Given the description of an element on the screen output the (x, y) to click on. 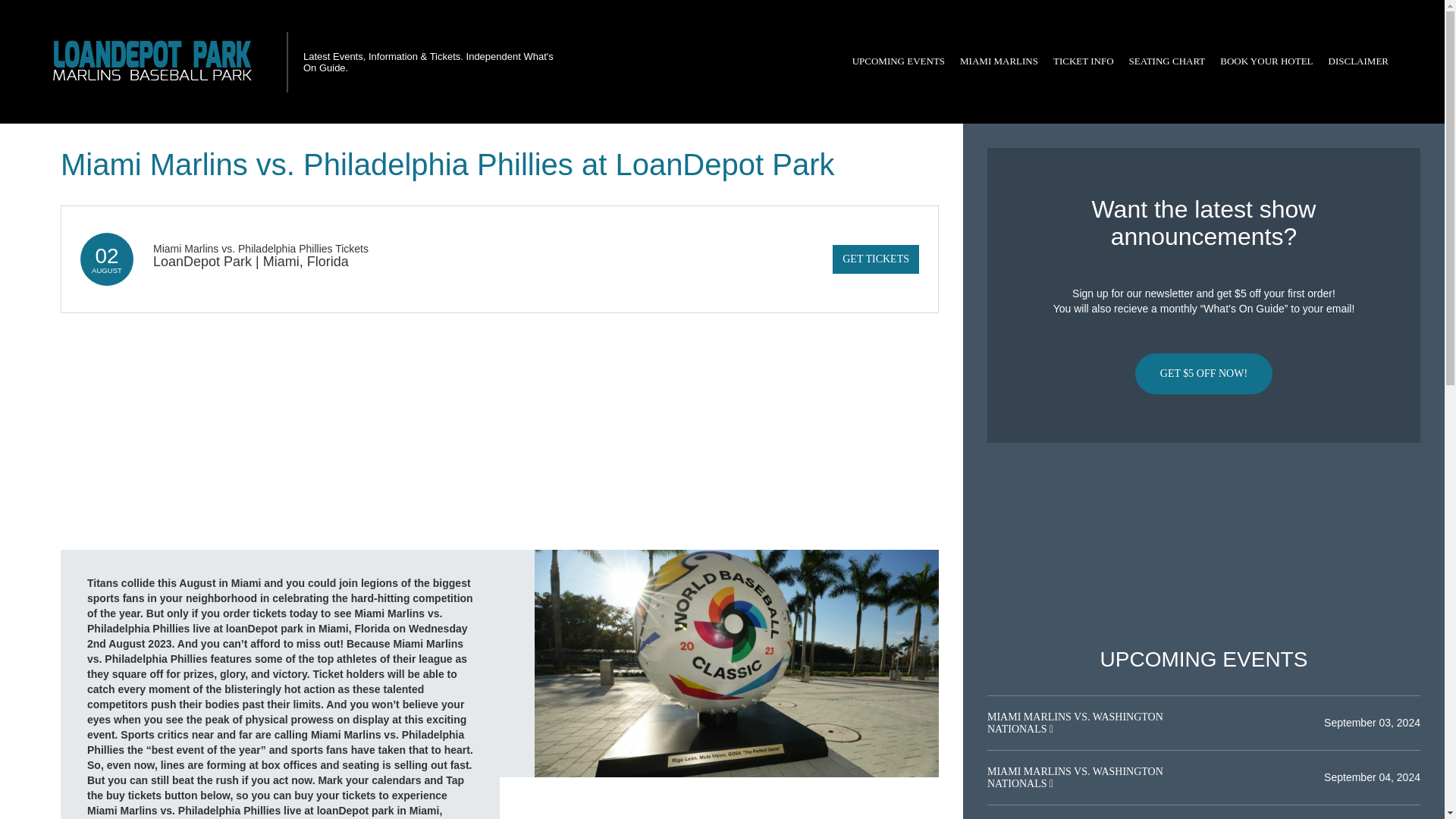
Miami Marlins vs. Philadelphia Phillies Tickets (260, 248)
TICKET INFO (1083, 61)
Miami Marlins vs. Philadelphia Phillies at LoanDepot Park (736, 663)
DISCLAIMER (1358, 61)
GET TICKETS (875, 258)
UPCOMING EVENTS (898, 61)
SEATING CHART (1166, 61)
BOOK YOUR HOTEL (1266, 61)
MIAMI MARLINS (998, 61)
